Given the description of an element on the screen output the (x, y) to click on. 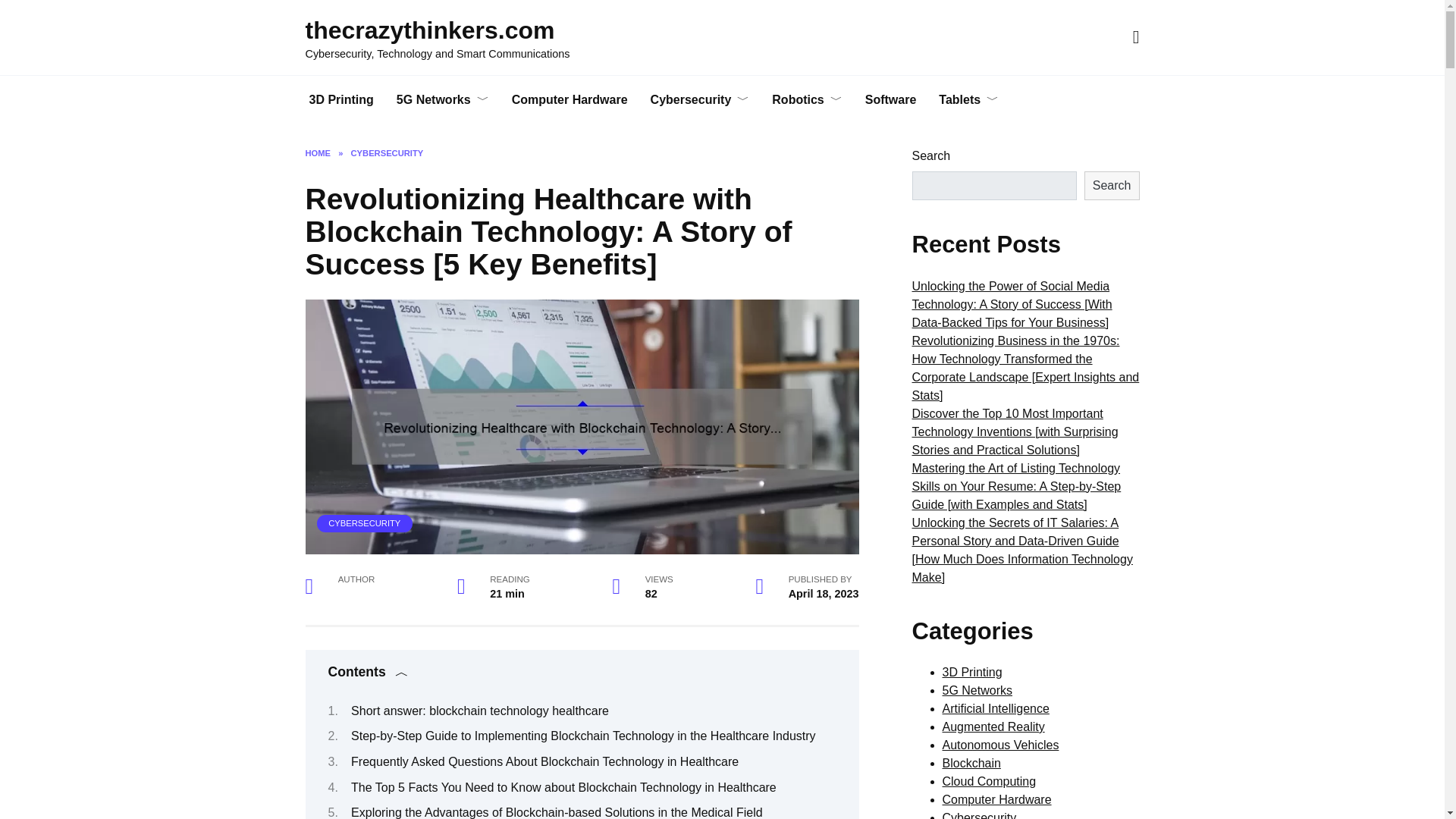
Robotics (806, 100)
Software (890, 100)
Computer Hardware (569, 100)
5G Networks (442, 100)
Tablets (968, 100)
3D Printing (340, 100)
Cybersecurity (700, 100)
thecrazythinkers.com (429, 30)
